Given the description of an element on the screen output the (x, y) to click on. 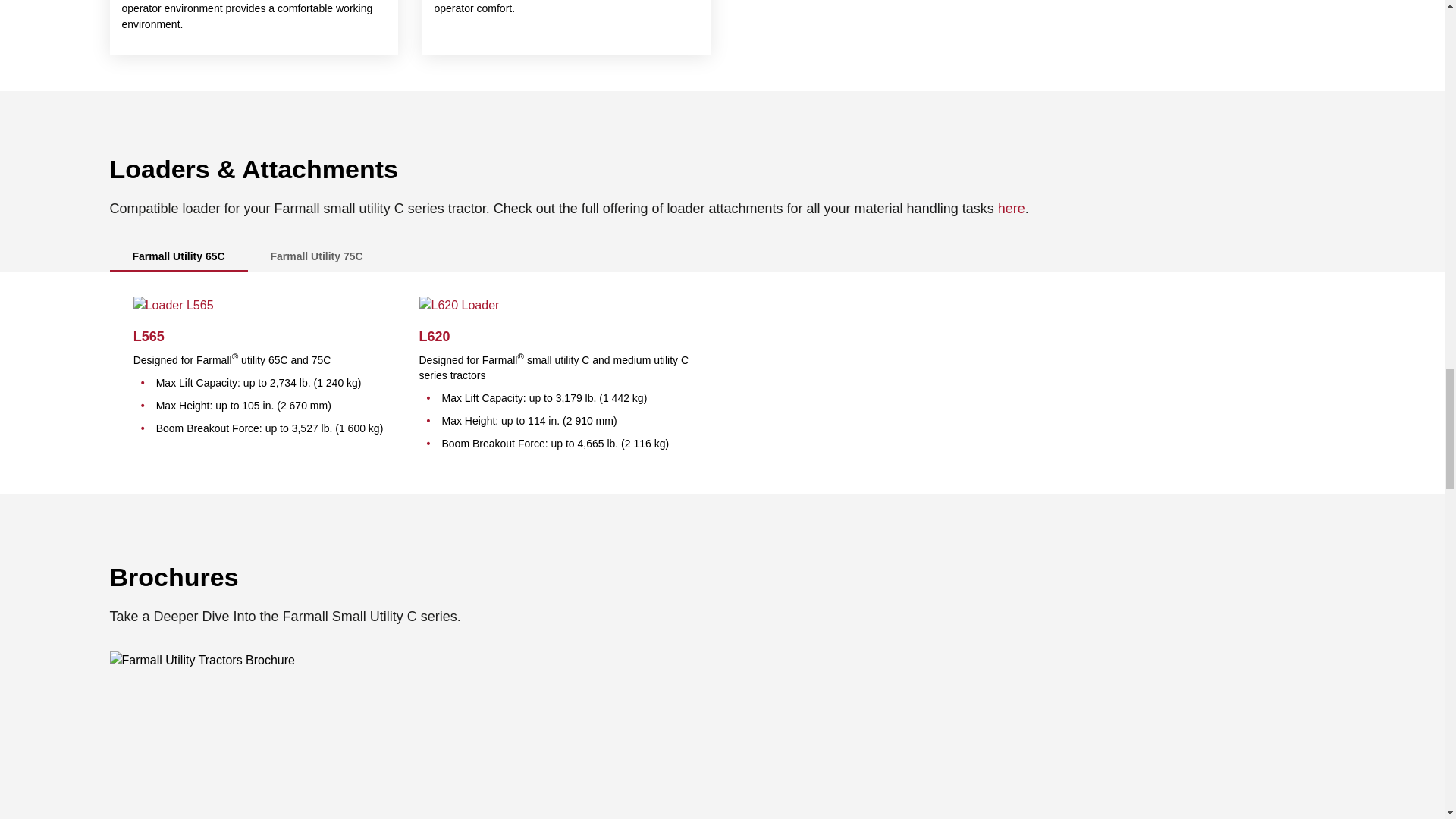
here (1011, 208)
